Given the description of an element on the screen output the (x, y) to click on. 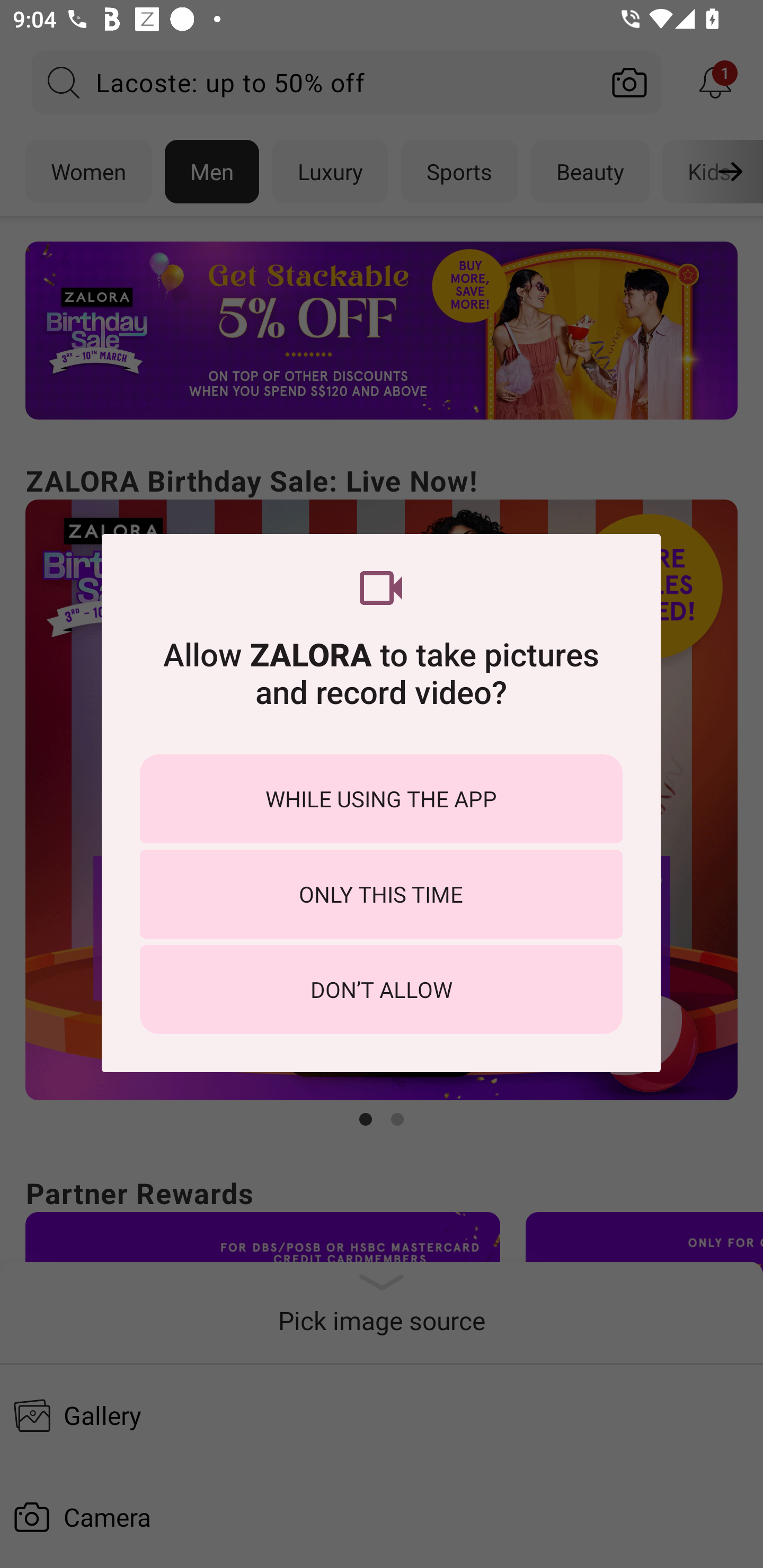
WHILE USING THE APP (380, 798)
ONLY THIS TIME (380, 894)
DON’T ALLOW (380, 989)
